Given the description of an element on the screen output the (x, y) to click on. 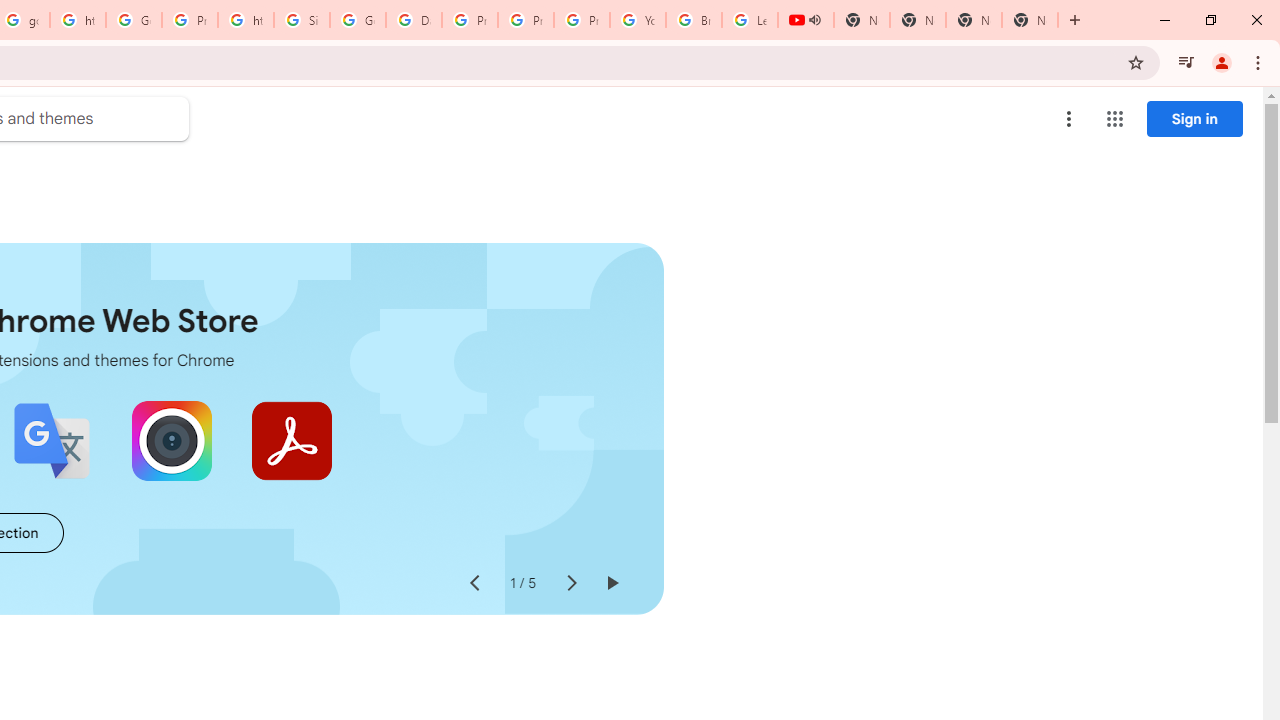
Privacy Help Center - Policies Help (525, 20)
Previous slide (474, 583)
https://scholar.google.com/ (77, 20)
More options menu (1069, 118)
Next slide (570, 583)
Adobe Acrobat: PDF edit, convert, sign tools (291, 440)
YouTube (637, 20)
https://scholar.google.com/ (245, 20)
